Given the description of an element on the screen output the (x, y) to click on. 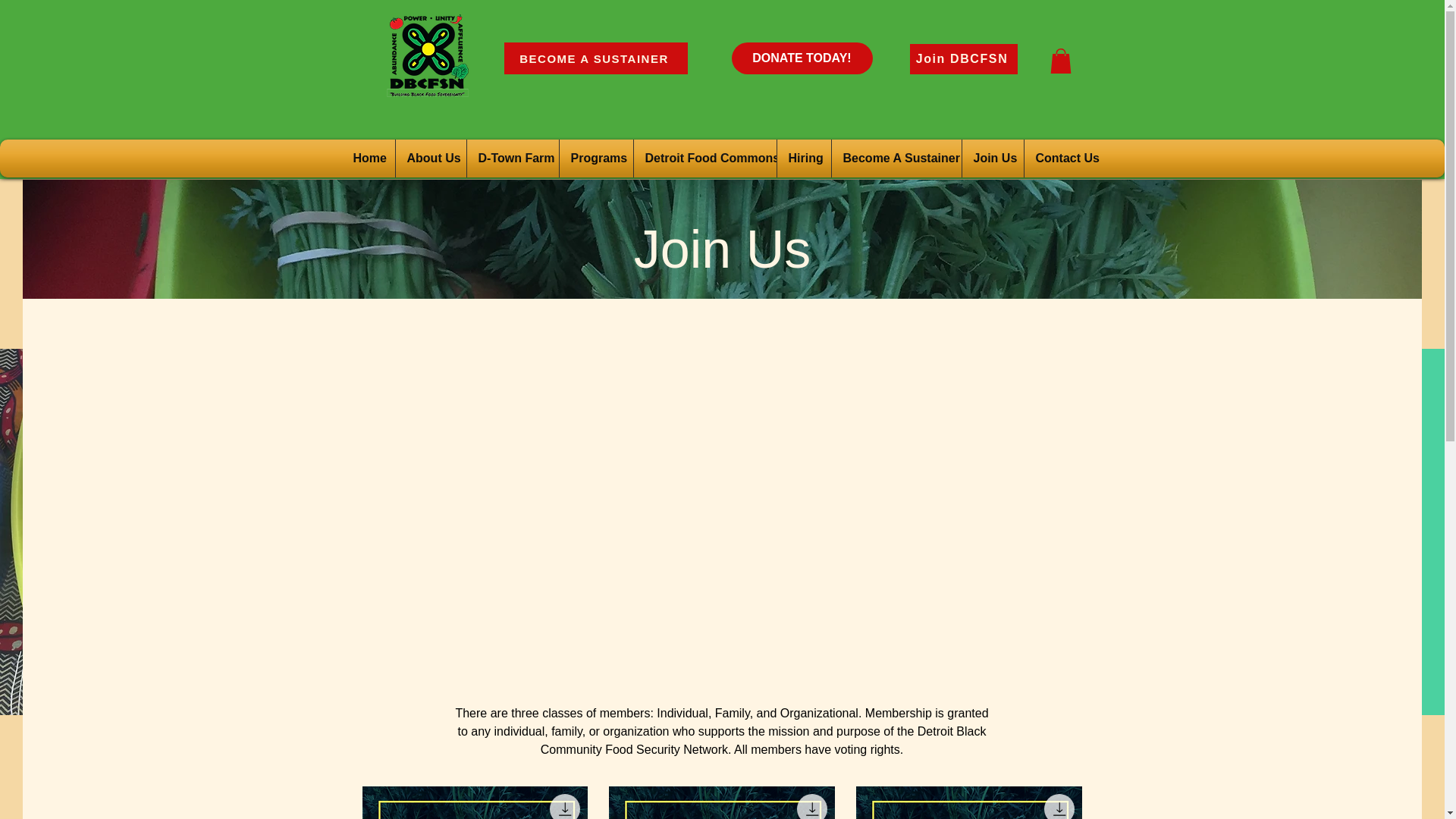
Join DBCFSN (963, 59)
Programs (552, 158)
Become A Sustainer (853, 158)
Hiring (761, 158)
Home (324, 158)
About Us (387, 158)
Book Online (1102, 158)
Contact Us (1021, 158)
BECOME A SUSTAINER (595, 58)
Join Us (949, 158)
Detroit Food Commons (661, 158)
D-Town Farm (470, 158)
DONATE TODAY! (801, 58)
